Given the description of an element on the screen output the (x, y) to click on. 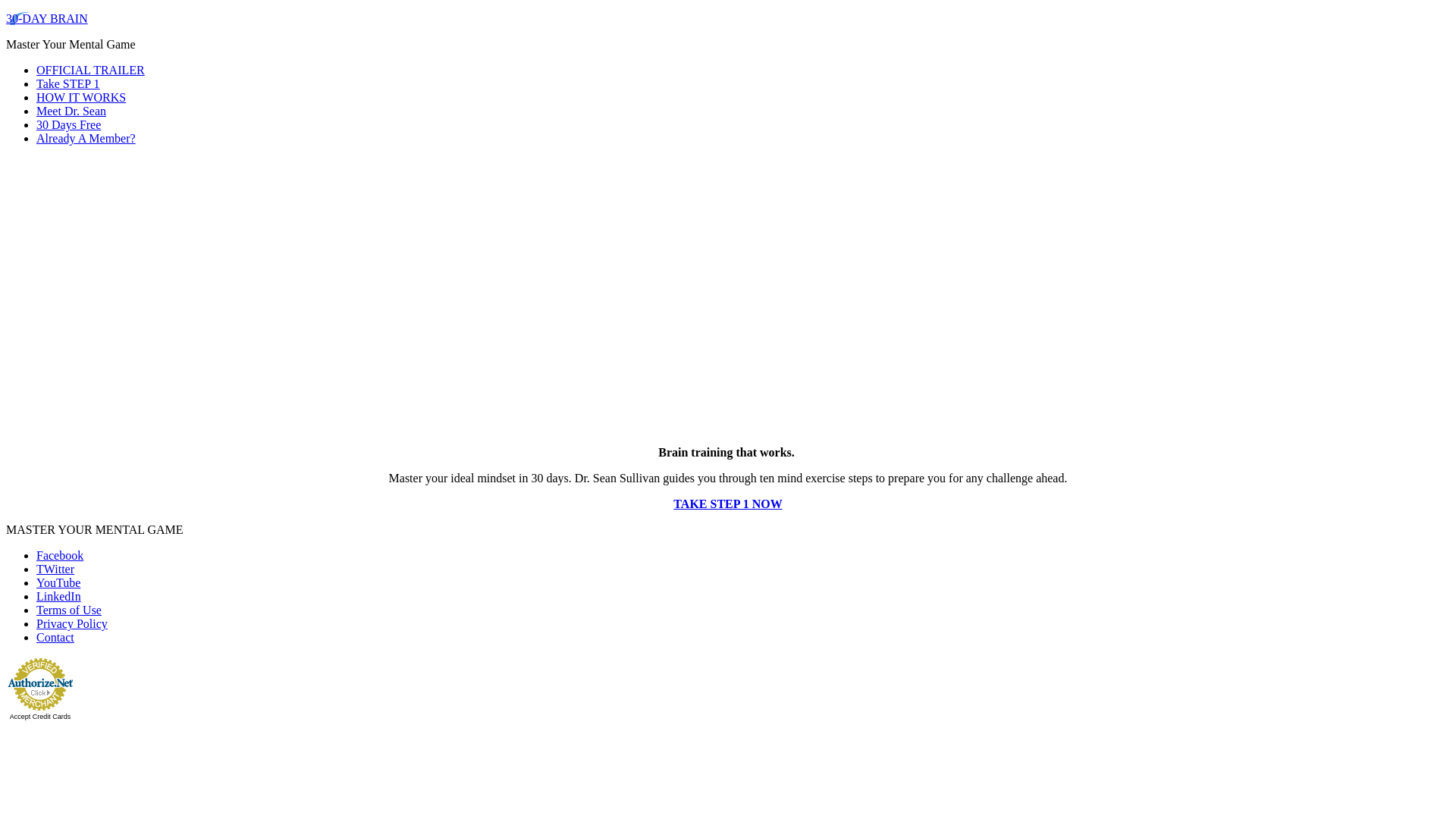
HOW IT WORKS Element type: text (80, 97)
Terms of Use Element type: text (68, 609)
TAKE STEP 1 NOW Element type: text (727, 503)
Accept Credit Cards Element type: text (40, 716)
Meet Dr. Sean Element type: text (71, 110)
OFFICIAL TRAILER Element type: text (90, 69)
TWitter Element type: text (55, 568)
Facebook Element type: text (59, 555)
Already A Member? Element type: text (85, 137)
30-DAY BRAIN Element type: text (46, 18)
Take STEP 1 Element type: text (68, 83)
LinkedIn Element type: text (58, 595)
Contact Element type: text (55, 636)
YouTube Element type: text (58, 582)
Privacy Policy Element type: text (71, 623)
30 Days Free Element type: text (68, 124)
